Given the description of an element on the screen output the (x, y) to click on. 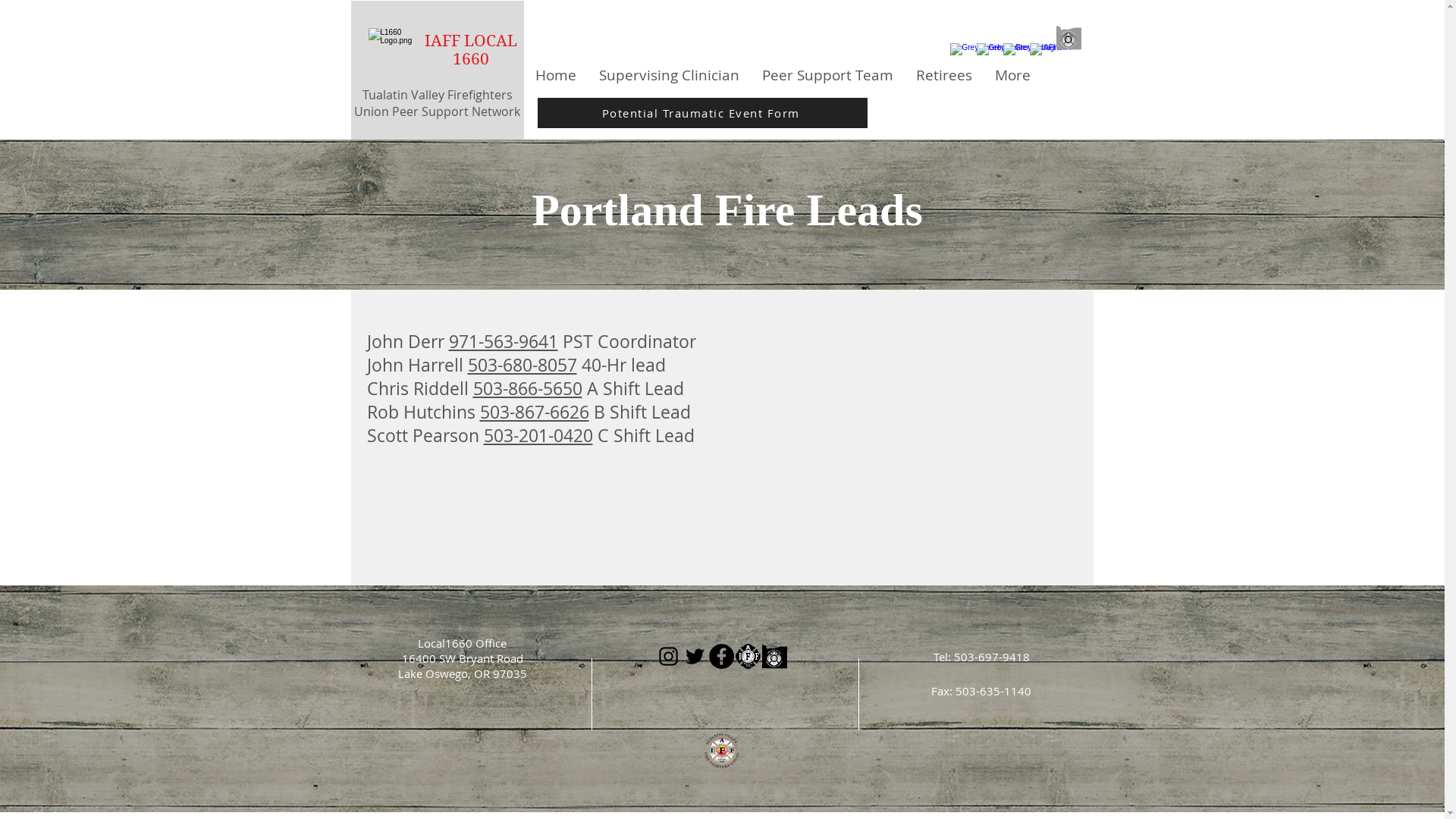
IAFF LOCAL Element type: text (470, 40)
Supervising Clinician Element type: text (667, 74)
Tualatin Valley Firefighters Element type: text (437, 94)
503-867-6626 Element type: text (533, 411)
Potential Traumatic Event Form Element type: text (701, 112)
Home Element type: text (554, 74)
503-866-5650 Element type: text (527, 388)
503-680-8057 Element type: text (521, 364)
503-201-0420 Element type: text (538, 435)
971-563-9641 Element type: text (503, 341)
Peer Support Team Element type: text (827, 74)
Retirees Element type: text (942, 74)
